Given the description of an element on the screen output the (x, y) to click on. 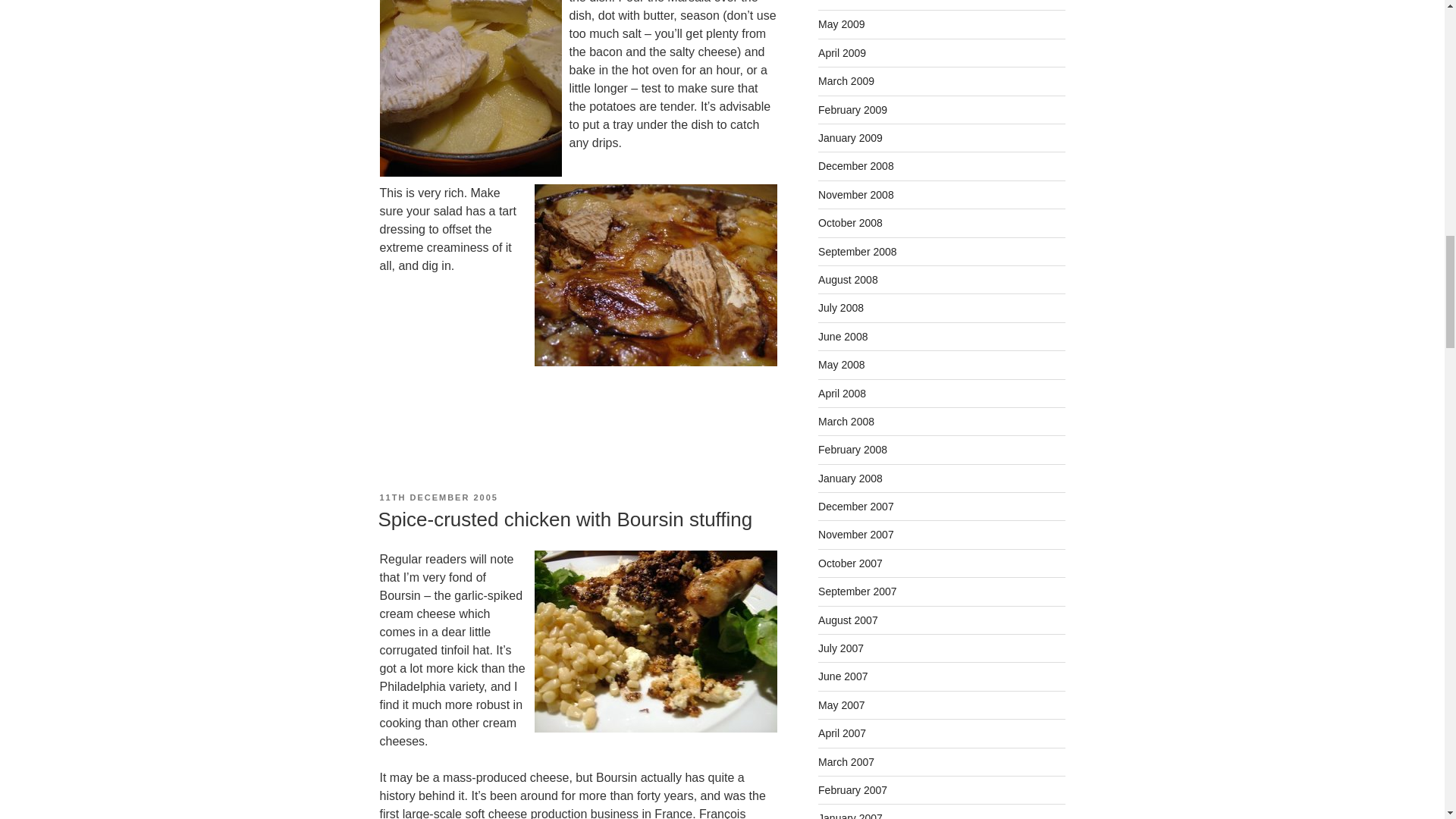
11TH DECEMBER 2005 (437, 497)
Spice-crusted chicken with Boursin stuffing (564, 518)
